Given the description of an element on the screen output the (x, y) to click on. 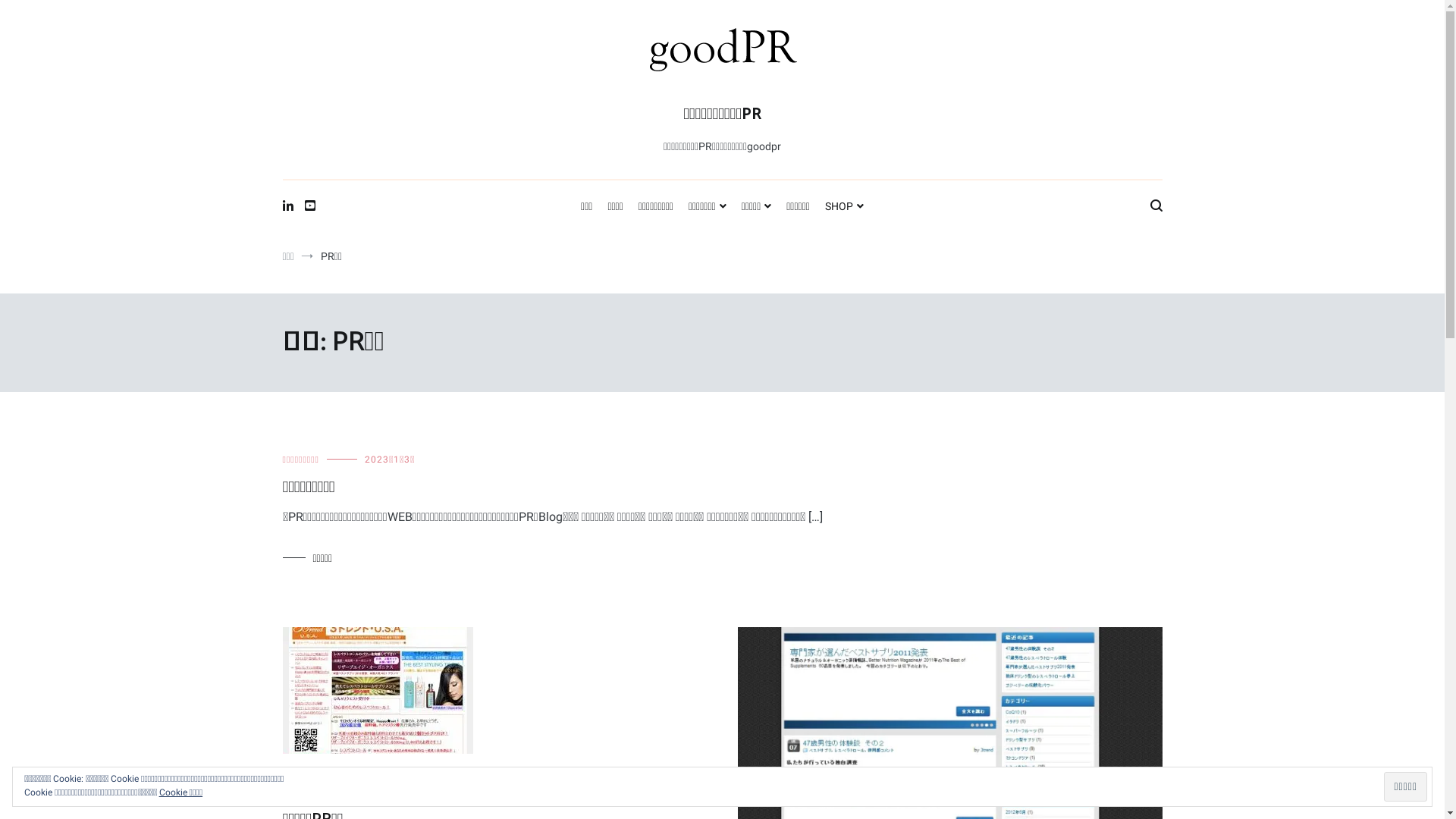
SHOP Element type: text (844, 206)
